Given the description of an element on the screen output the (x, y) to click on. 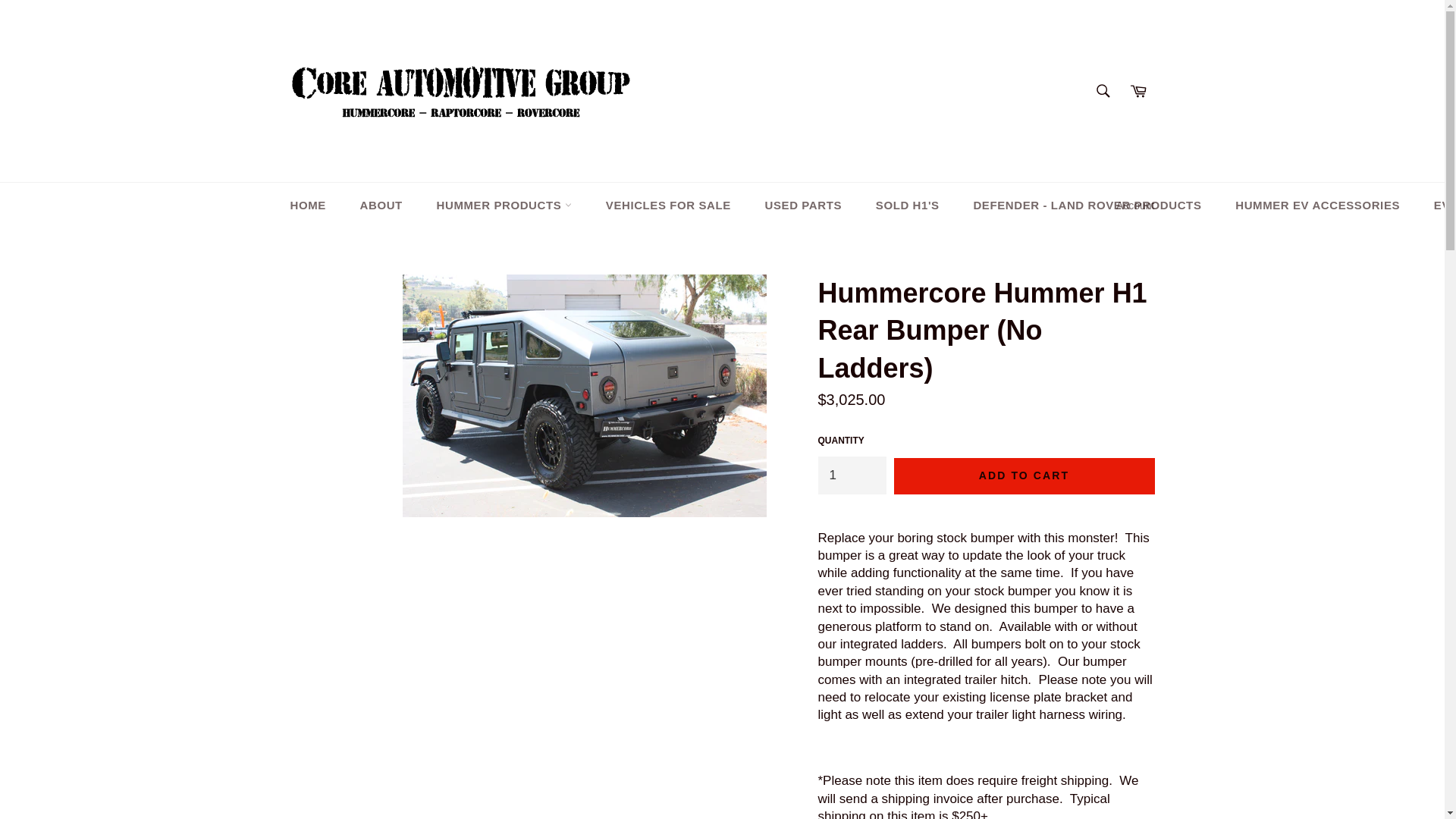
HUMMER PRODUCTS (504, 205)
ABOUT (381, 205)
VEHICLES FOR SALE (668, 205)
DEFENDER - LAND ROVER PRODUCTS (1086, 205)
Account (1134, 205)
HOME (307, 205)
Cart (1138, 91)
SOLD H1'S (907, 205)
USED PARTS (803, 205)
Search (1103, 91)
HUMMER EV ACCESSORIES (1317, 205)
1 (850, 474)
